Given the description of an element on the screen output the (x, y) to click on. 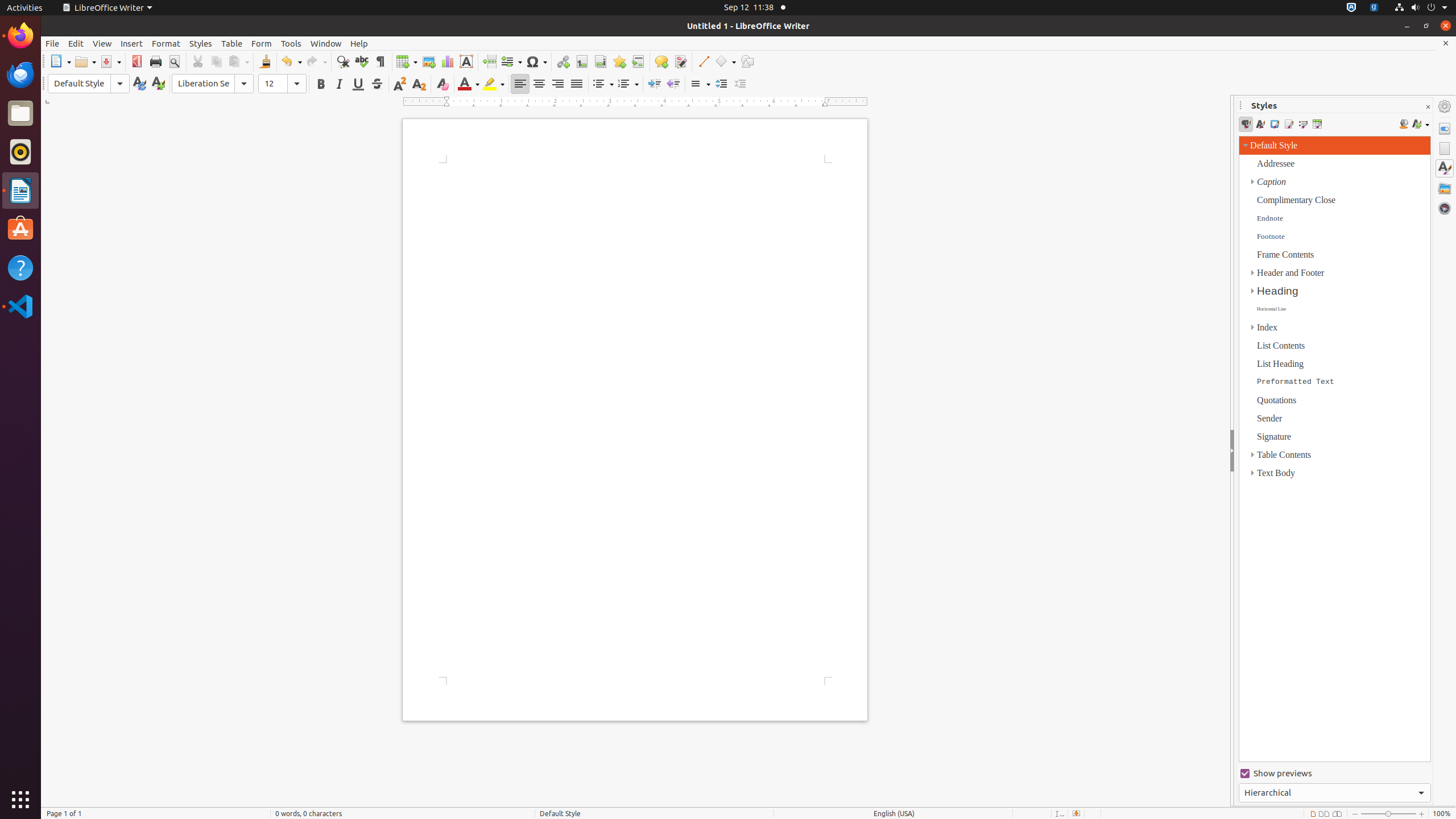
Page Styles Element type: push-button (1288, 123)
Styles Element type: menu (200, 43)
Spelling Element type: push-button (361, 61)
Field Element type: push-button (510, 61)
LibreOffice Writer Element type: push-button (20, 190)
